Given the description of an element on the screen output the (x, y) to click on. 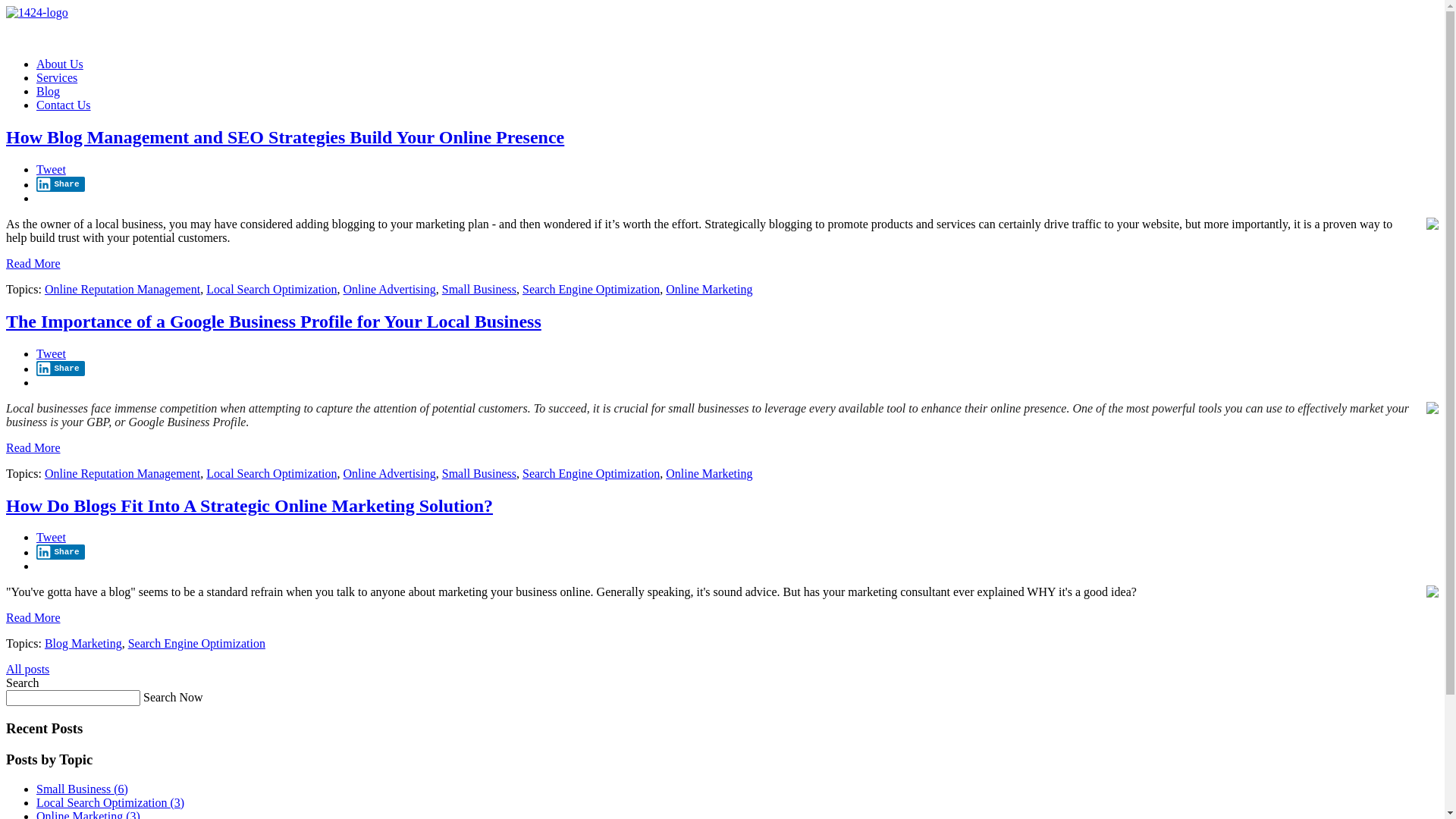
Read More Element type: text (33, 447)
All posts Element type: text (27, 668)
Contact Us Element type: text (63, 104)
Blog Element type: text (47, 90)
Read More Element type: text (33, 617)
Search Engine Optimization Element type: text (590, 288)
Online Reputation Management Element type: text (122, 288)
How Do Blogs Fit Into A Strategic Online Marketing Solution? Element type: text (249, 505)
Share Element type: text (60, 368)
Small Business Element type: text (479, 288)
Small Business (6) Element type: text (82, 788)
Online Marketing Element type: text (708, 473)
Tweet Element type: text (50, 353)
Search Engine Optimization Element type: text (196, 643)
Online Advertising Element type: text (389, 288)
Local Search Optimization Element type: text (271, 288)
About Us Element type: text (59, 63)
Online Marketing Element type: text (708, 288)
Search Engine Optimization Element type: text (590, 473)
Read More Element type: text (33, 263)
Online Reputation Management Element type: text (122, 473)
Blog Marketing Element type: text (83, 643)
Services Element type: text (56, 77)
Share Element type: text (60, 551)
Share Element type: text (60, 183)
Small Business Element type: text (479, 473)
Tweet Element type: text (50, 169)
Online Advertising Element type: text (389, 473)
Local Search Optimization Element type: text (271, 473)
Local Search Optimization (3) Element type: text (110, 802)
Tweet Element type: text (50, 536)
Search Now Element type: text (173, 696)
